Given the description of an element on the screen output the (x, y) to click on. 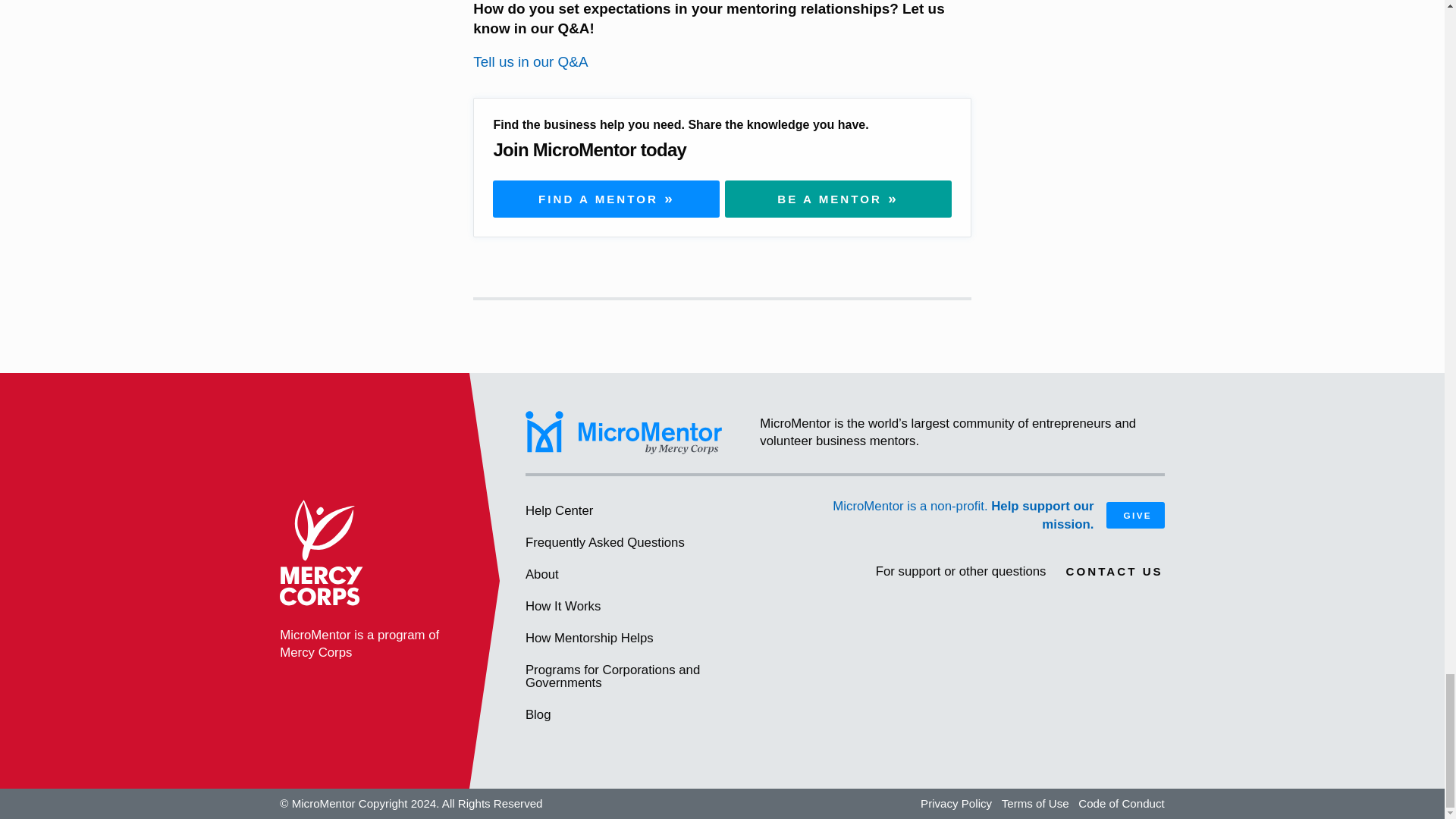
Help Center (651, 511)
BE A MENTOR (838, 198)
Frequently Asked Questions (651, 542)
About (651, 574)
How Mentorship Helps (651, 638)
FIND A MENTOR (606, 198)
How It Works (651, 606)
